Given the description of an element on the screen output the (x, y) to click on. 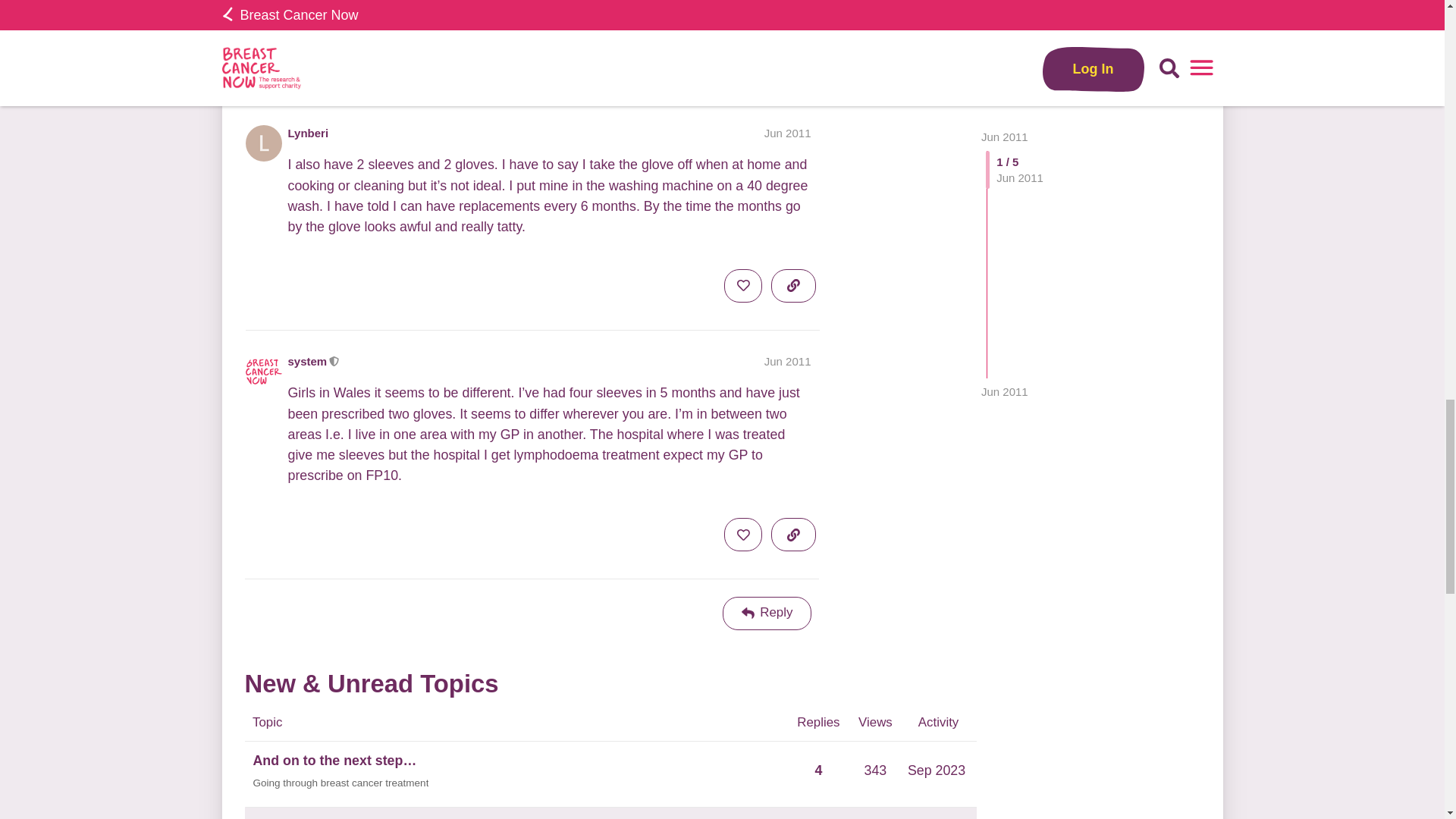
Jun 2011 (787, 132)
Lynberi (308, 132)
